Given the description of an element on the screen output the (x, y) to click on. 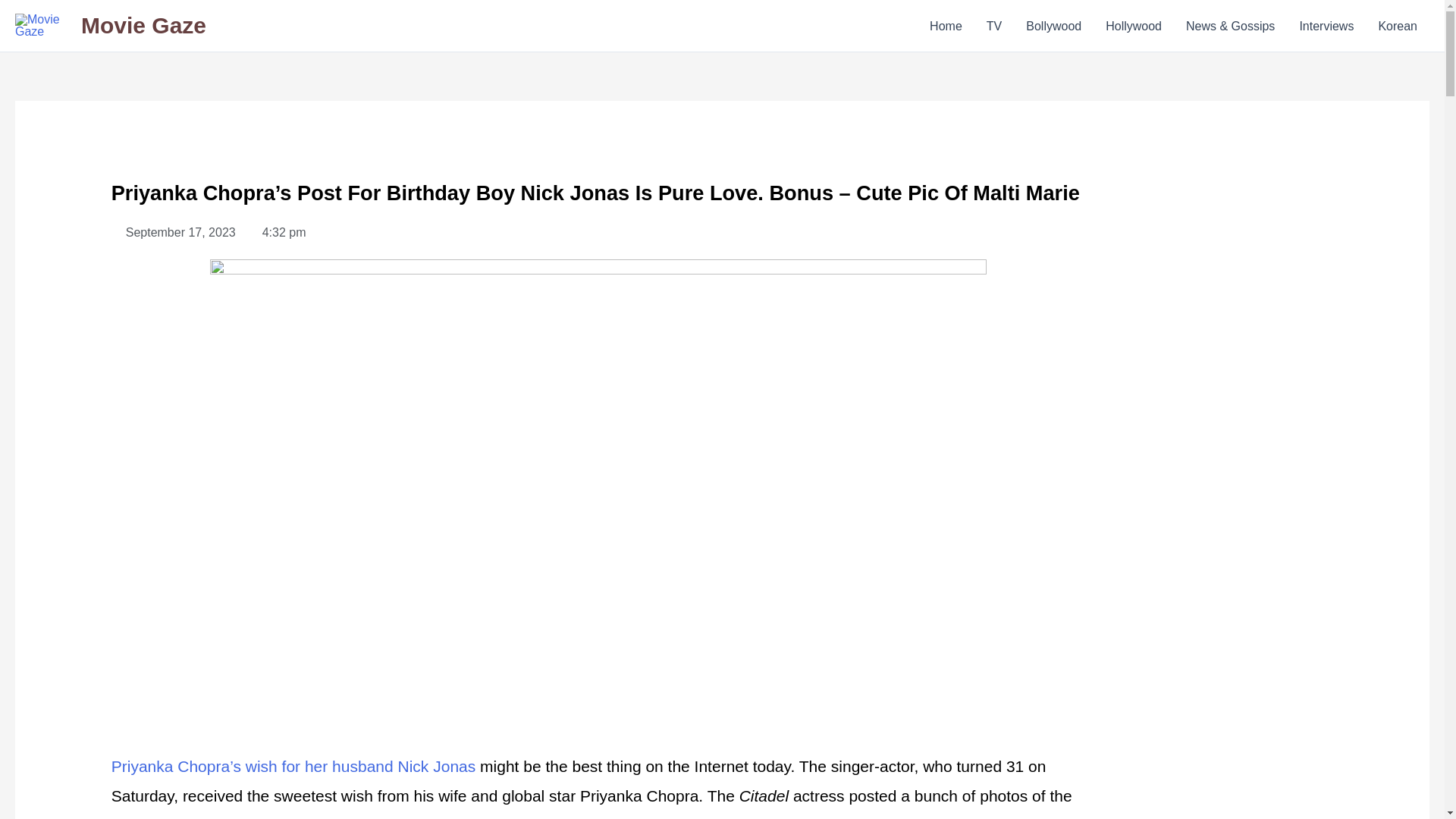
Movie Gaze (143, 25)
TV (993, 25)
Home (945, 25)
Bollywood (1053, 25)
September 17, 2023 (173, 232)
Hollywood (1133, 25)
Interviews (1326, 25)
Korean (1397, 25)
